Given the description of an element on the screen output the (x, y) to click on. 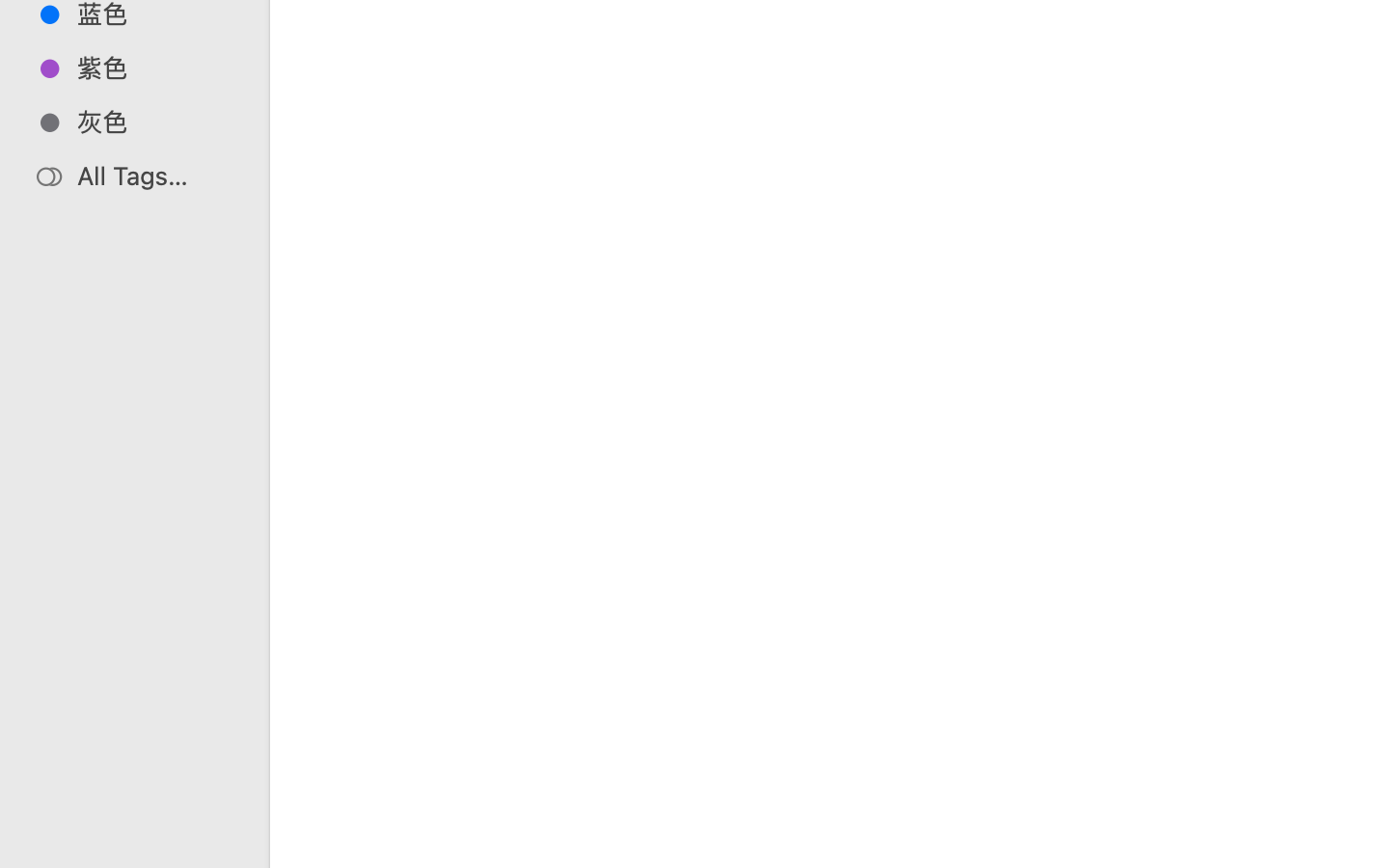
紫色 Element type: AXStaticText (155, 67)
Documents Element type: AXStaticText (875, 786)
All Tags… Element type: AXStaticText (155, 175)
0 Element type: AXRadioButton (23, 846)
Tags… Element type: AXStaticText (41, 852)
